Given the description of an element on the screen output the (x, y) to click on. 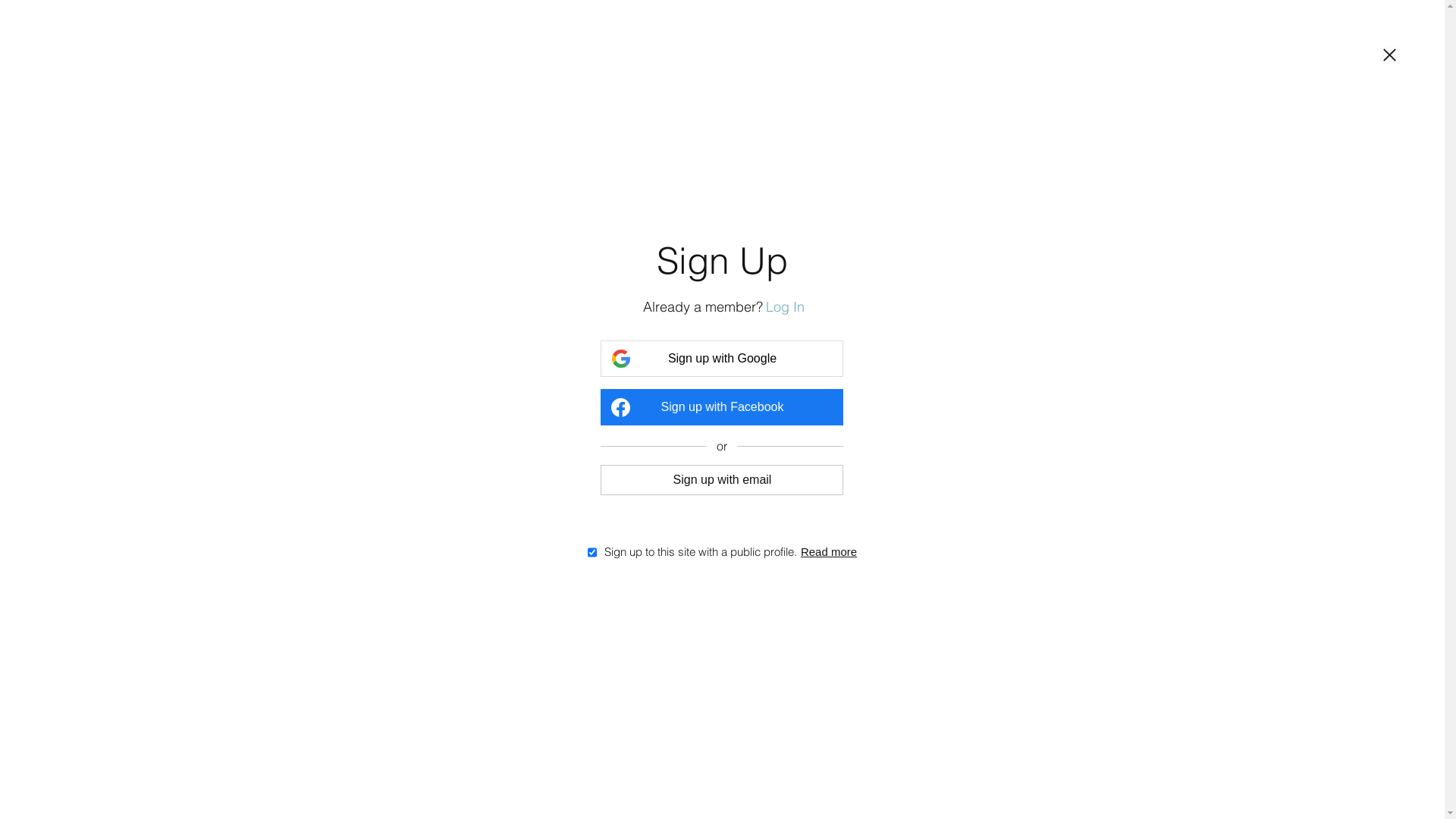
Sign up with Facebook Element type: text (721, 407)
Read more Element type: text (828, 551)
Sign up with email Element type: text (721, 479)
Sign up with Google Element type: text (721, 358)
Log In Element type: text (784, 306)
